Given the description of an element on the screen output the (x, y) to click on. 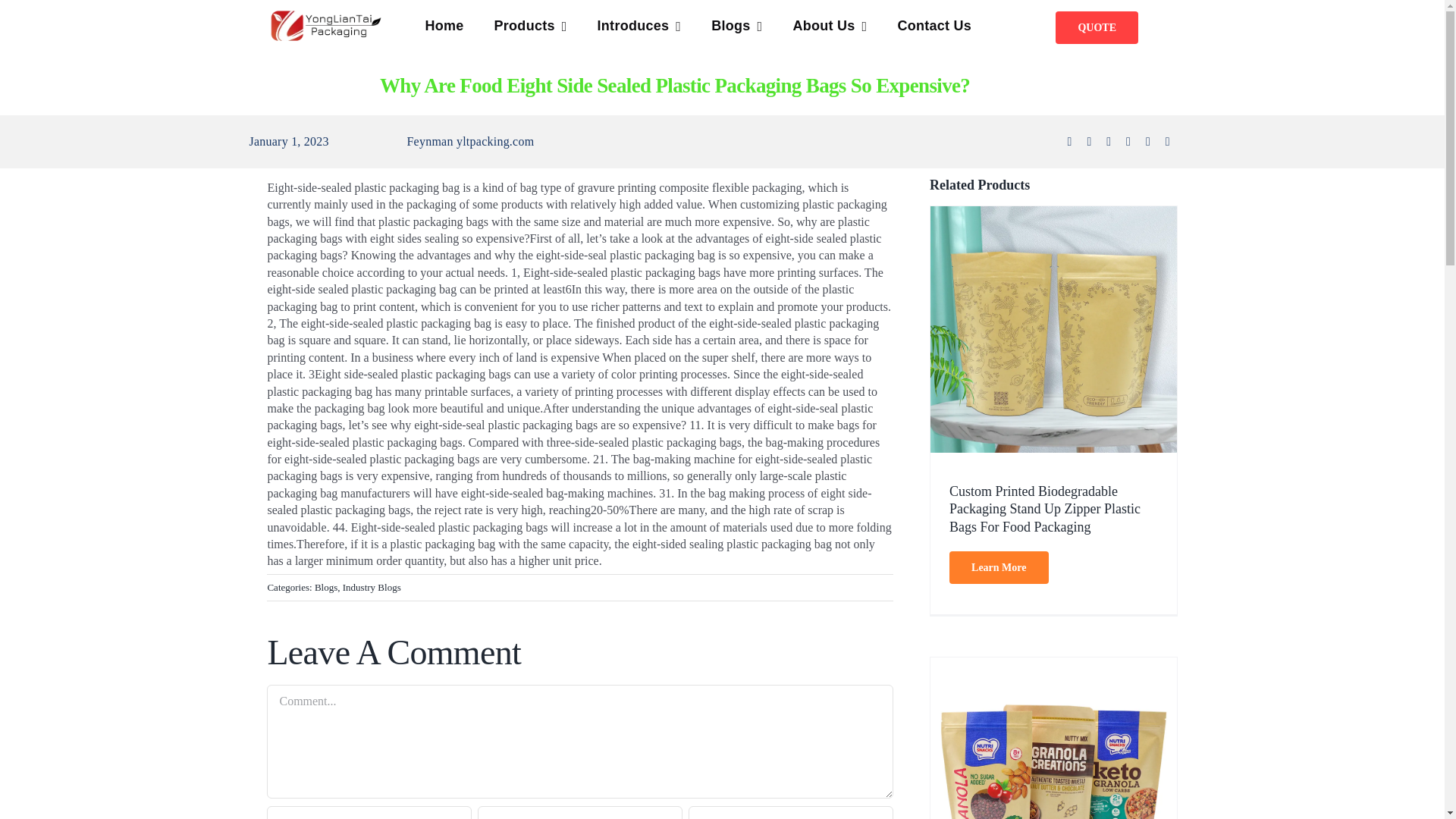
Home (444, 26)
Introduces (638, 26)
Products (531, 26)
Blogs (736, 26)
About Us (829, 26)
